Given the description of an element on the screen output the (x, y) to click on. 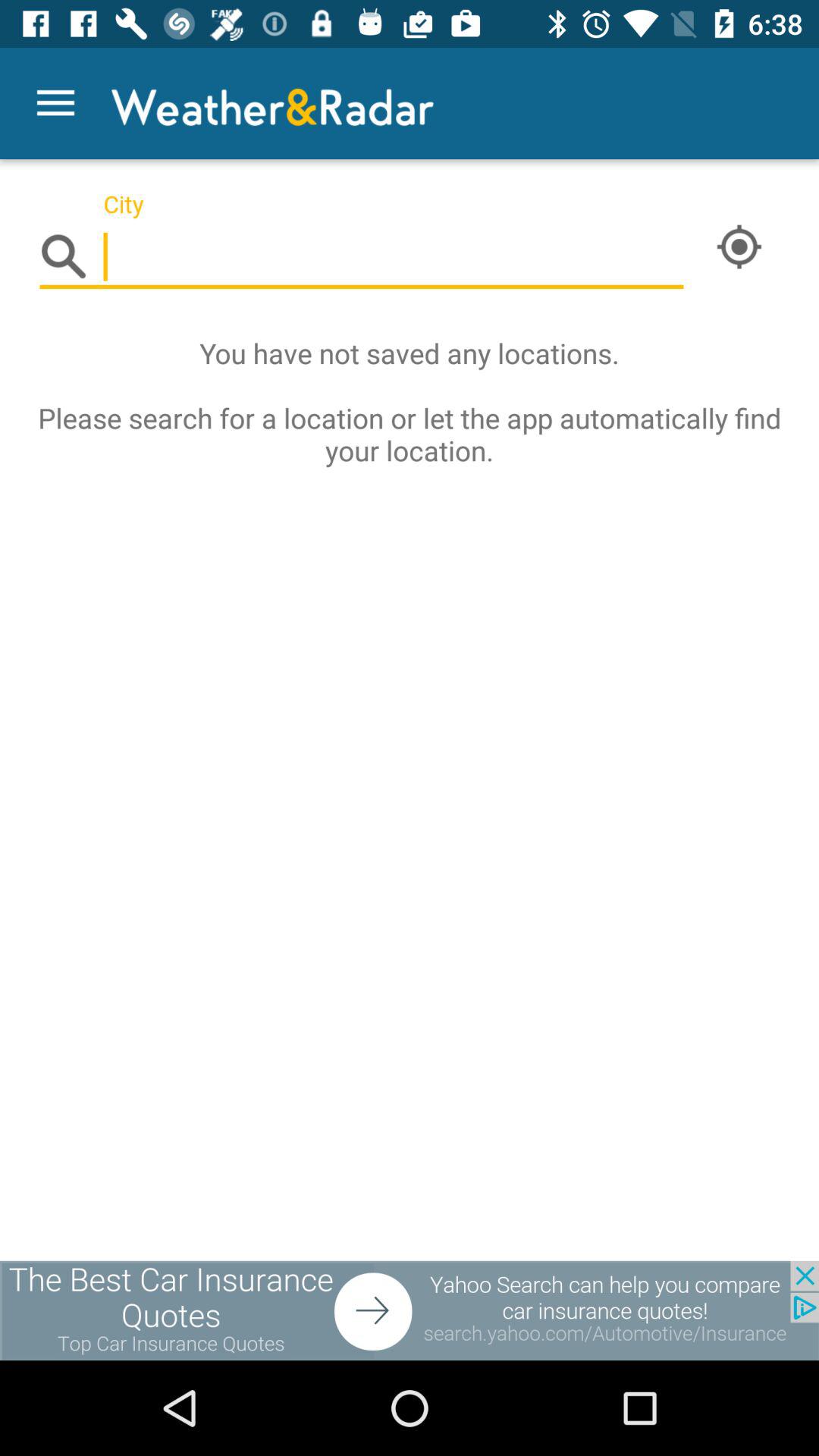
enter city (361, 257)
